Given the description of an element on the screen output the (x, y) to click on. 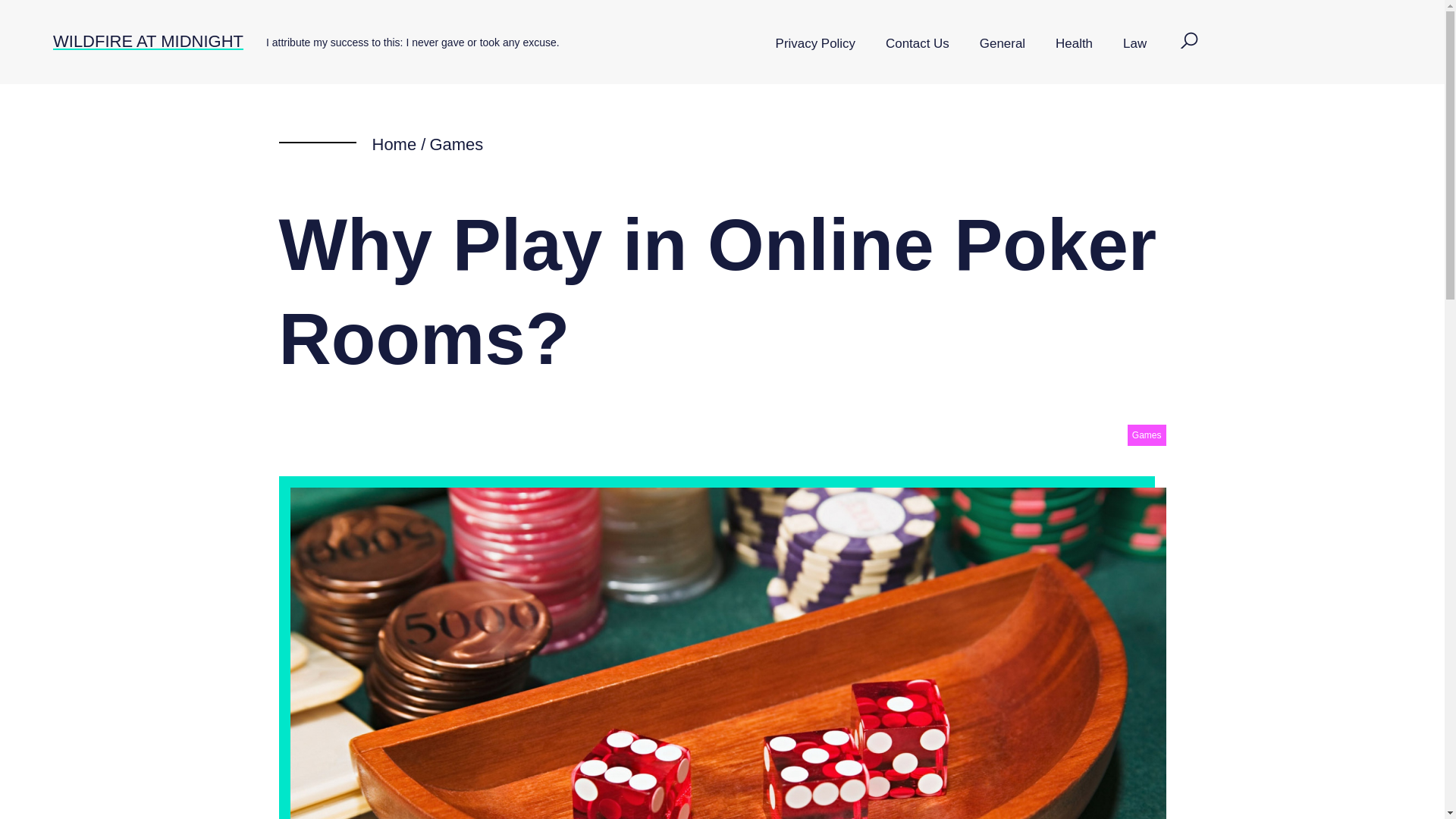
Games (1146, 435)
Contact Us (916, 43)
General (1002, 43)
Privacy Policy (815, 43)
Games (456, 144)
WILDFIRE AT MIDNIGHT (147, 40)
Health (1074, 43)
Home (393, 144)
